Given the description of an element on the screen output the (x, y) to click on. 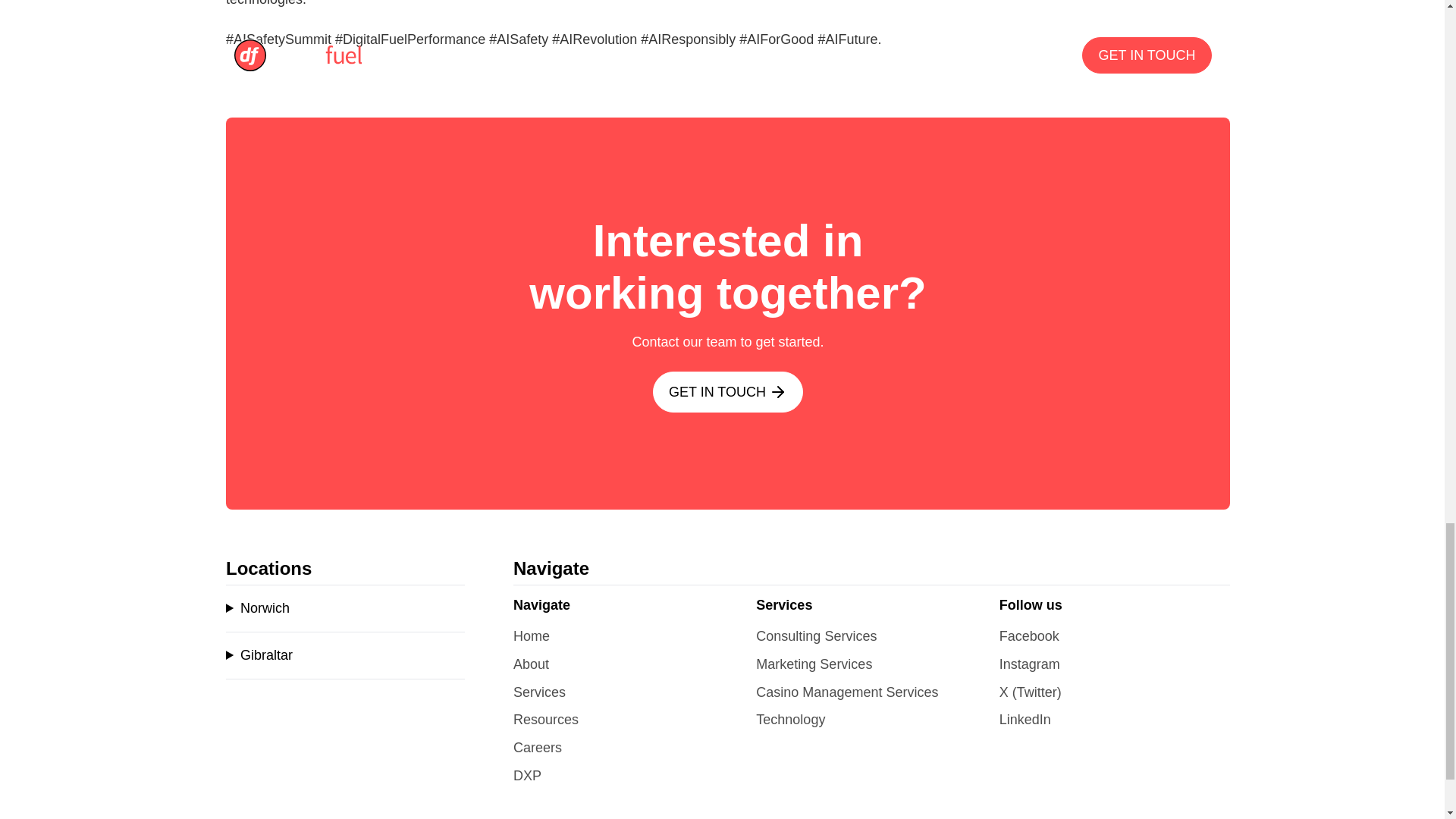
Facebook (1028, 635)
DXP (527, 775)
Instagram (1028, 663)
Resources (545, 719)
Consulting Services (815, 635)
Casino Management Services (846, 692)
Services (539, 692)
About (530, 663)
GET IN TOUCH (727, 391)
Careers (537, 747)
LinkedIn (1024, 719)
Home (531, 635)
Technology (790, 719)
Marketing Services (813, 663)
